Given the description of an element on the screen output the (x, y) to click on. 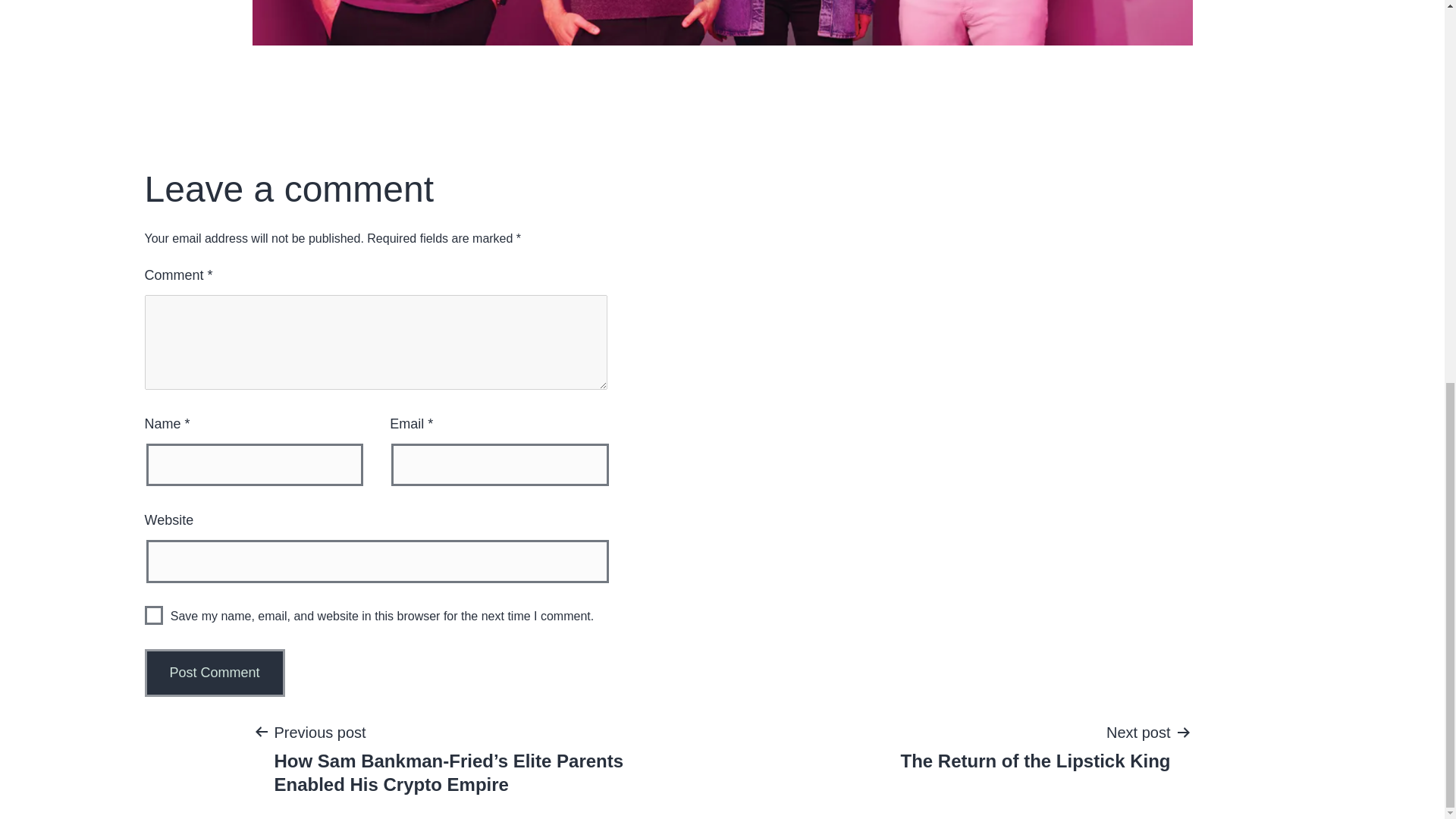
Post Comment (213, 672)
yes (152, 615)
Post Comment (213, 672)
